Given the description of an element on the screen output the (x, y) to click on. 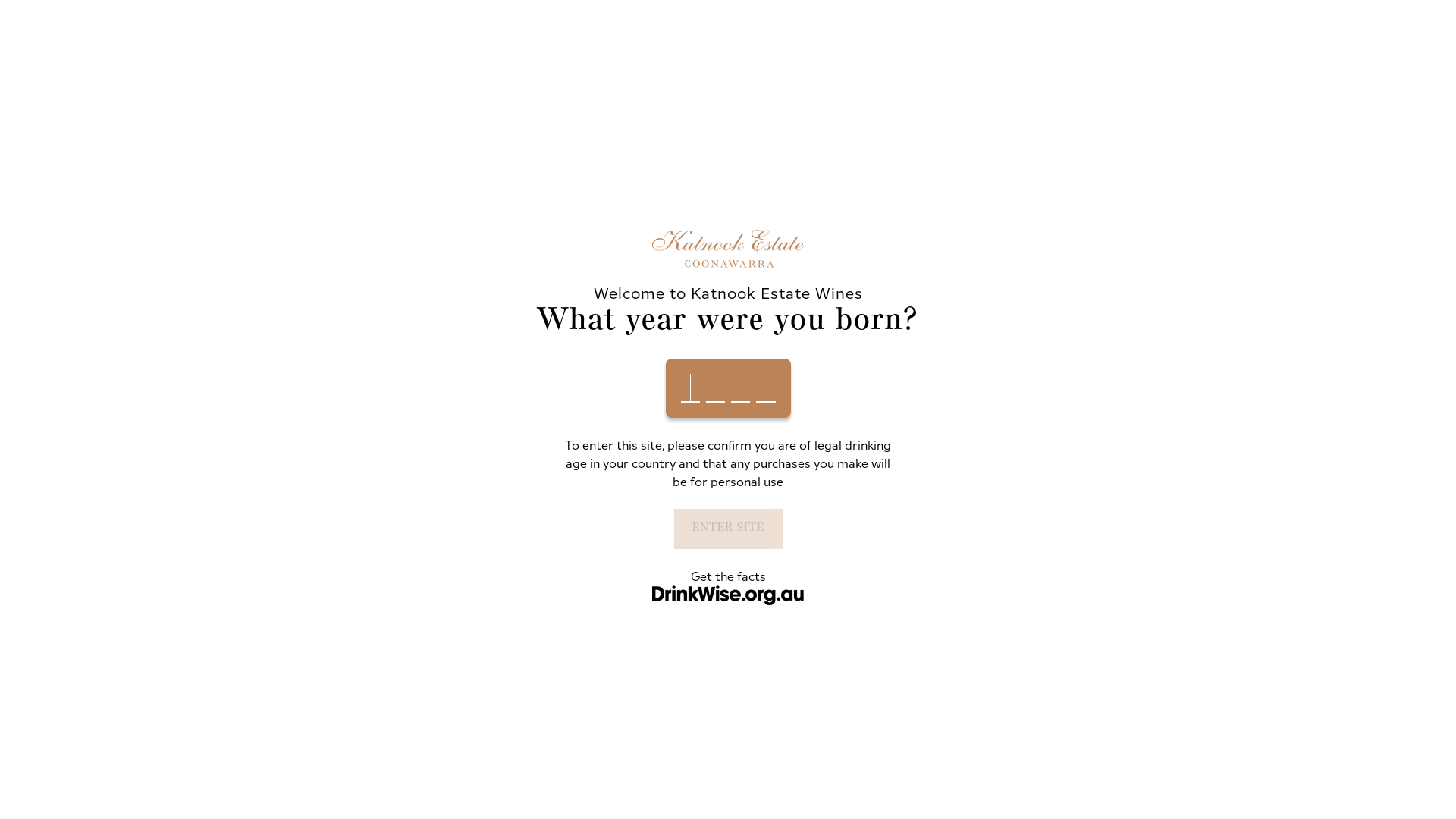
Our Story Element type: text (532, 71)
JOIN THE CLUB Element type: text (945, 71)
Book An Experience Element type: text (285, 582)
Terms and Conditions Element type: text (509, 682)
Privacy Policy Element type: text (509, 701)
Estate Wines Element type: text (727, 663)
Our Wines Element type: text (448, 71)
What Is Distinction Wines Element type: text (509, 644)
continue shopping Element type: text (630, 207)
Riddoch Hwy, Coonawarra SA 5263 Element type: text (1152, 618)
Cellar Door Element type: text (619, 71)
Museum Wines Element type: text (727, 682)
Founder's Block Element type: text (727, 644)
Visit Our Cellar Door - Book Now Element type: text (727, 14)
Cellar Door Element type: text (509, 625)
Get the facts Element type: text (727, 575)
Contact Us Element type: text (509, 663)
Our Story Element type: text (509, 606)
Shop All Wines Element type: text (727, 606)
Shopping Cart Element type: hover (1225, 72)
BOOK NOW Element type: text (712, 72)
SEARCH Element type: text (525, 340)
ENTER SITE Element type: text (727, 528)
Limited Release Element type: text (727, 625)
Katnook Estate Element type: hover (316, 71)
